Given the description of an element on the screen output the (x, y) to click on. 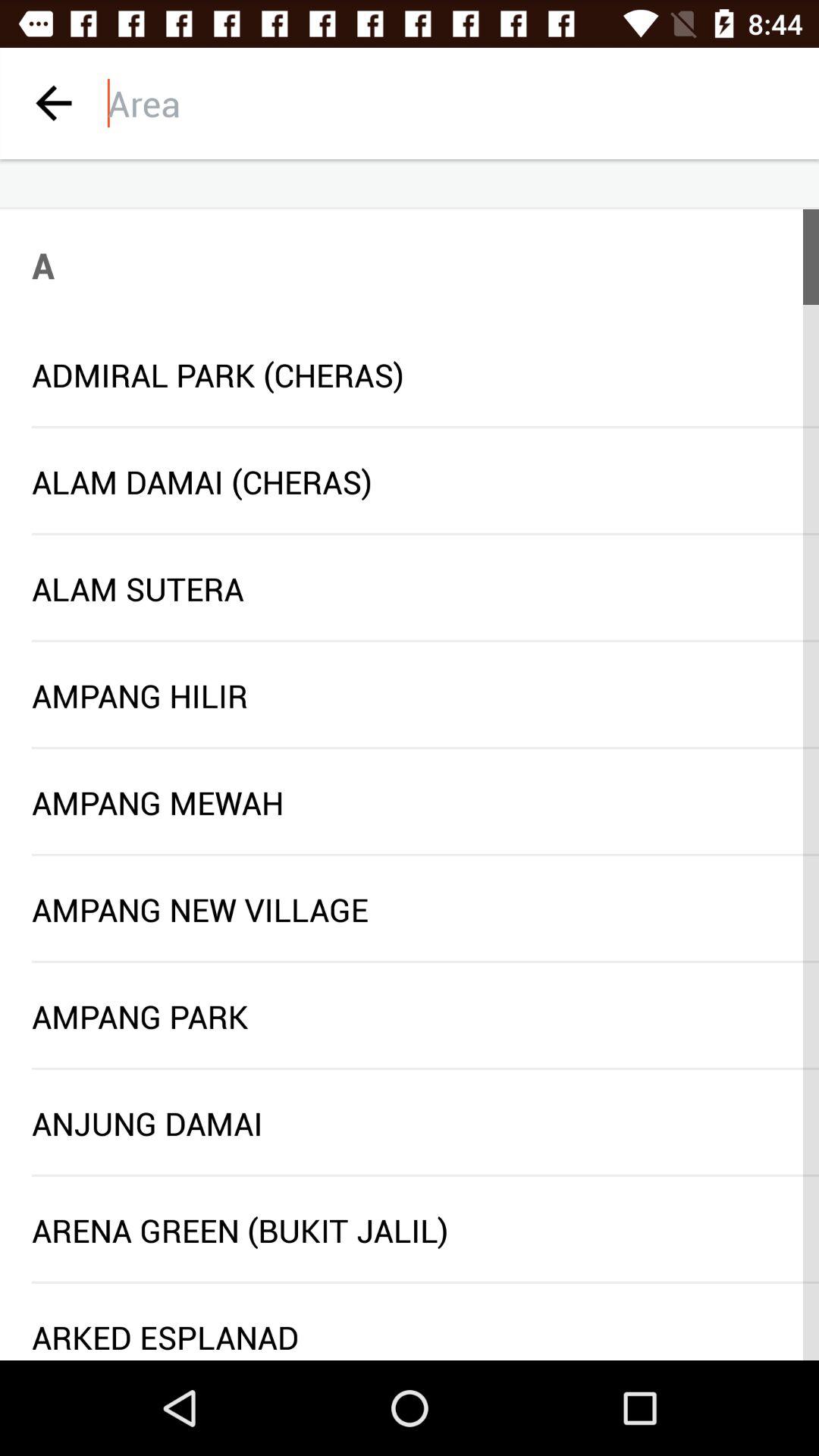
tap the ampang park item (409, 1015)
